Given the description of an element on the screen output the (x, y) to click on. 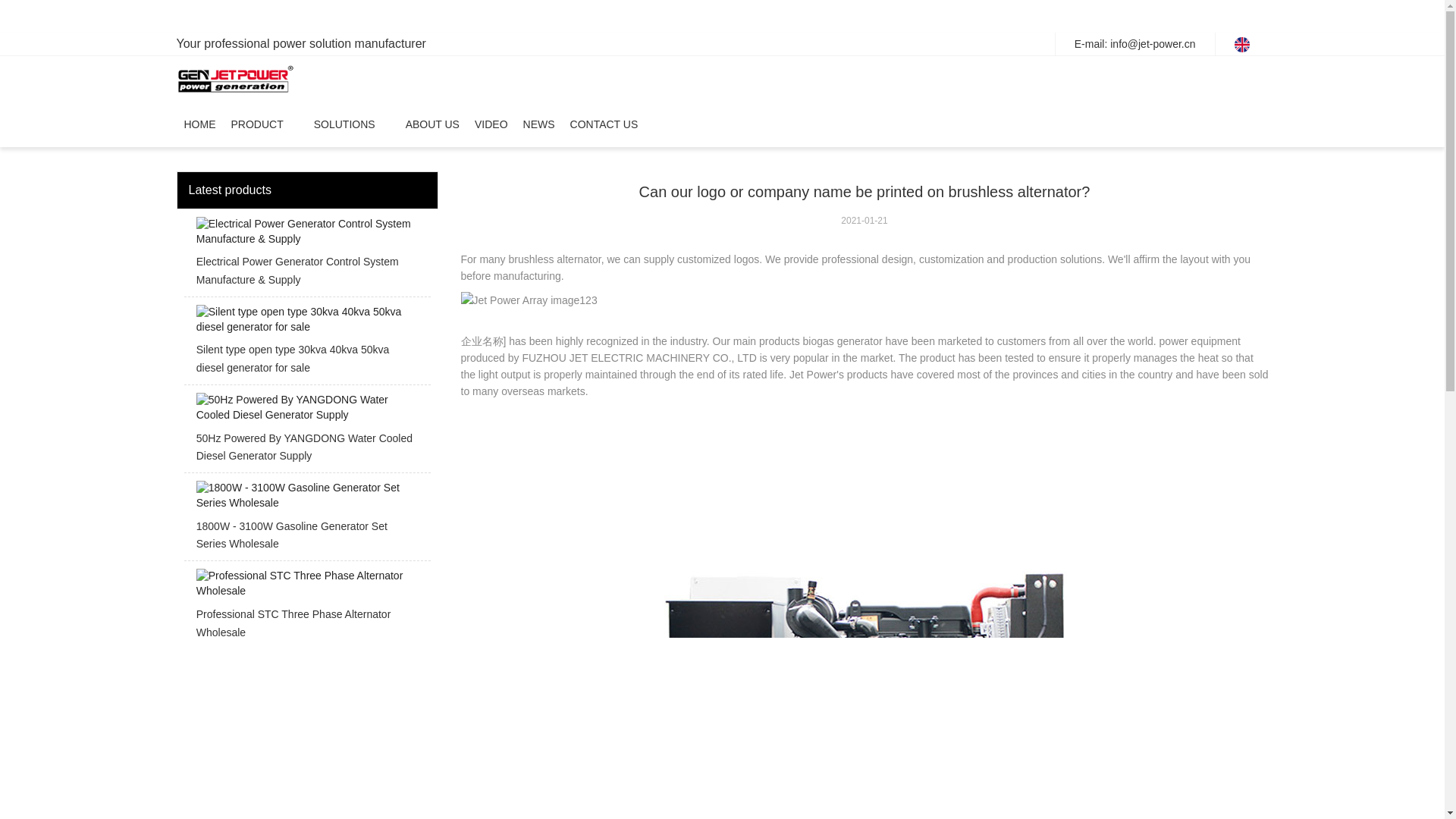
CONTACT US (604, 123)
VIDEO (491, 123)
ABOUT US (433, 123)
HOME (199, 123)
NEWS (538, 123)
Professional STC Three Phase Alternator Wholesale (306, 608)
1800W - 3100W Gasoline Generator Set Series Wholesale (306, 520)
PRODUCT (256, 123)
